Given the description of an element on the screen output the (x, y) to click on. 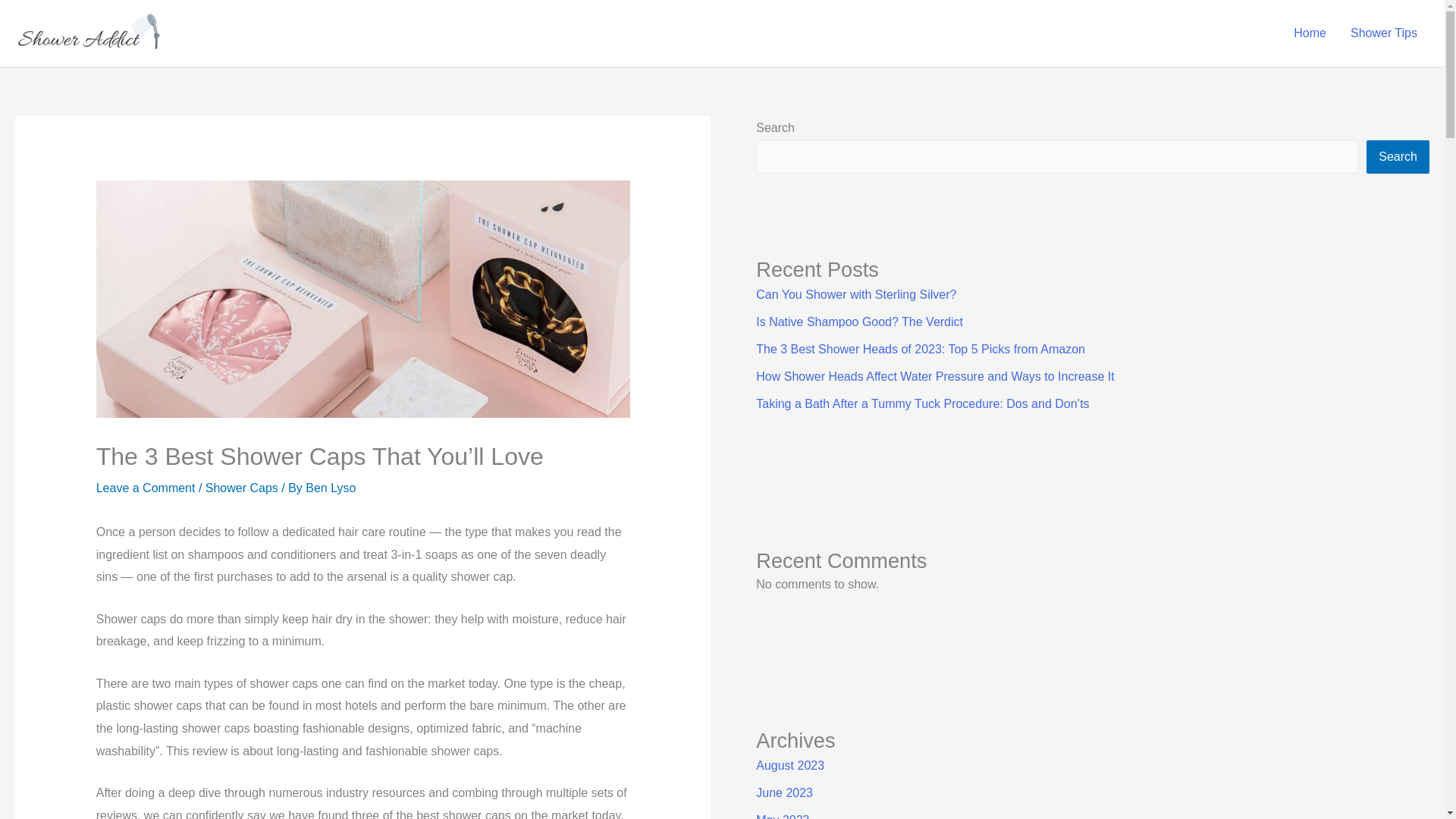
Shower Caps (241, 487)
August 2023 (789, 765)
June 2023 (783, 792)
Shower Tips (1383, 32)
View all posts by Ben Lyso (330, 487)
Can You Shower with Sterling Silver? (855, 294)
Is Native Shampoo Good? The Verdict (858, 321)
Home (1309, 32)
Ben Lyso (330, 487)
The 3 Best Shower Heads of 2023: Top 5 Picks from Amazon (919, 349)
May 2023 (782, 816)
Leave a Comment (145, 487)
Search (1398, 156)
